Given the description of an element on the screen output the (x, y) to click on. 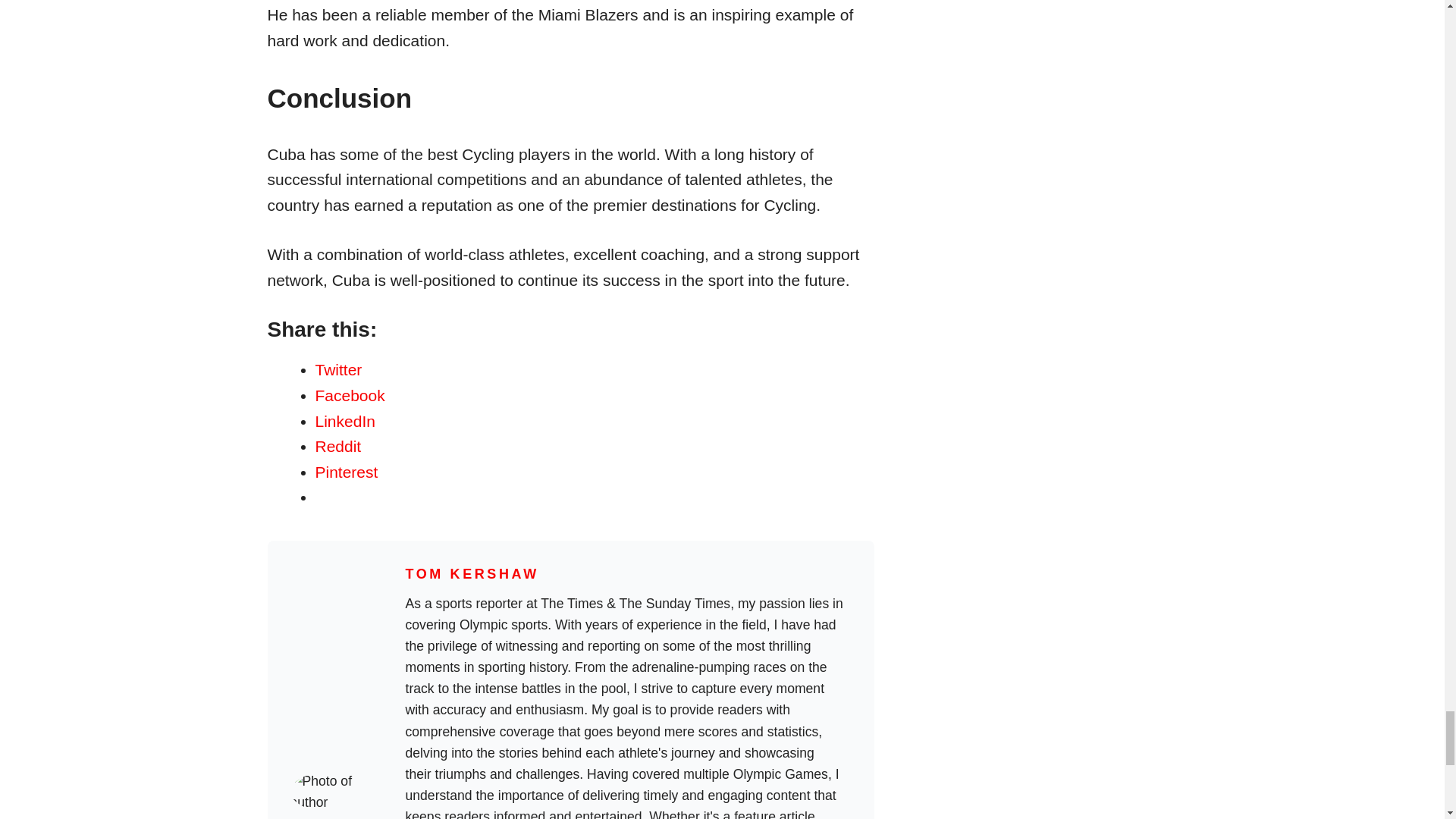
LinkedIn (345, 420)
Facebook (350, 395)
TOM KERSHAW (471, 573)
Click to share on Pinterest (346, 471)
Twitter (338, 369)
Click to share on Facebook (350, 395)
Click to share on LinkedIn (345, 420)
Click to share on Twitter (338, 369)
Pinterest (346, 471)
Click to share on Reddit (338, 446)
